Given the description of an element on the screen output the (x, y) to click on. 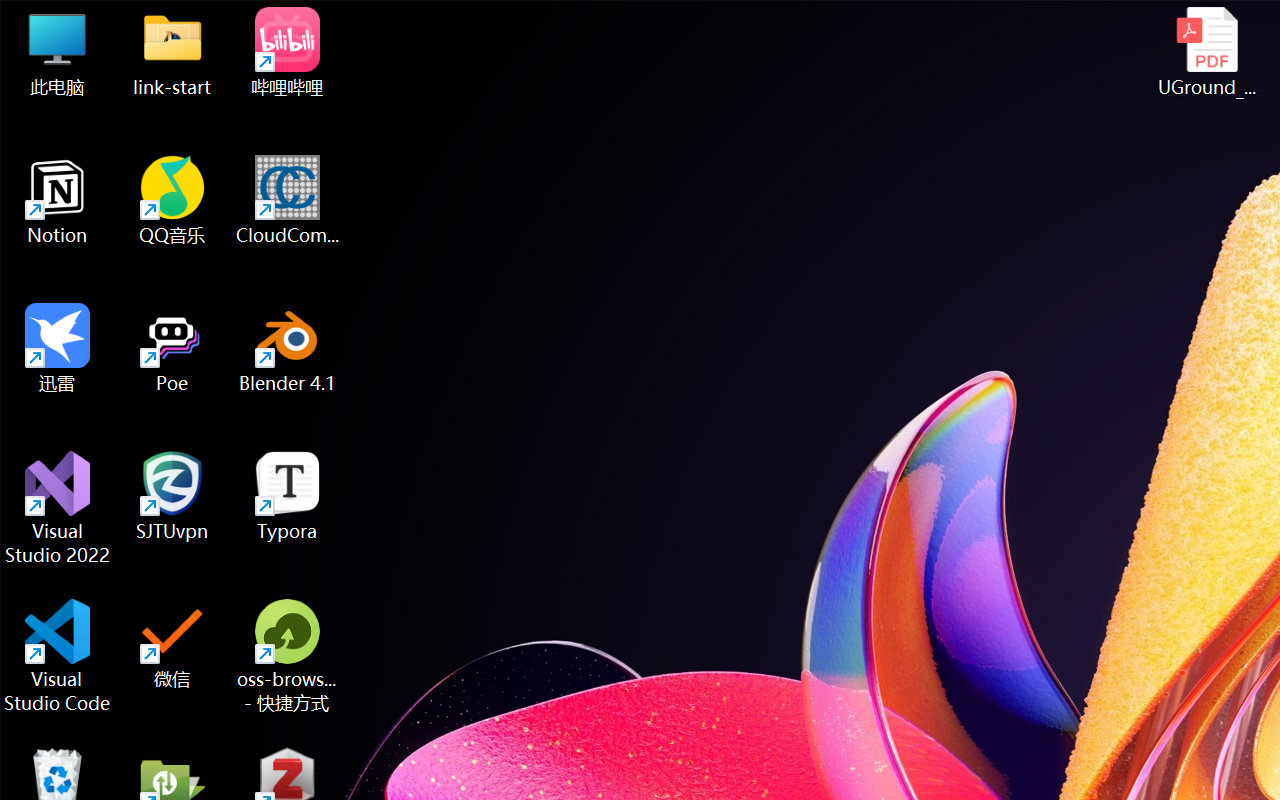
Visual Studio 2022 (57, 508)
Typora (287, 496)
CloudCompare (287, 200)
UGround_paper.pdf (1206, 52)
SJTUvpn (172, 496)
Blender 4.1 (287, 348)
Visual Studio Code (57, 656)
